Given the description of an element on the screen output the (x, y) to click on. 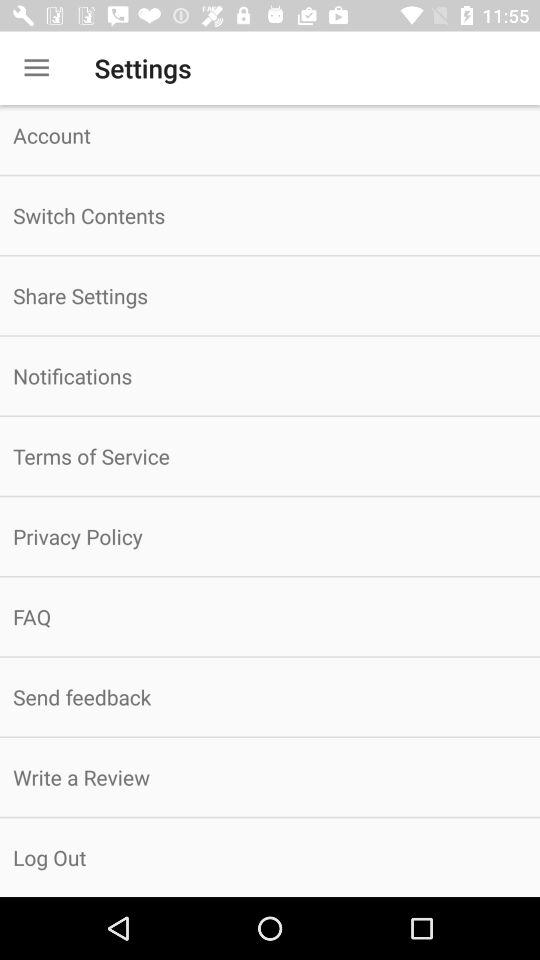
turn on item below the switch contents (270, 295)
